Given the description of an element on the screen output the (x, y) to click on. 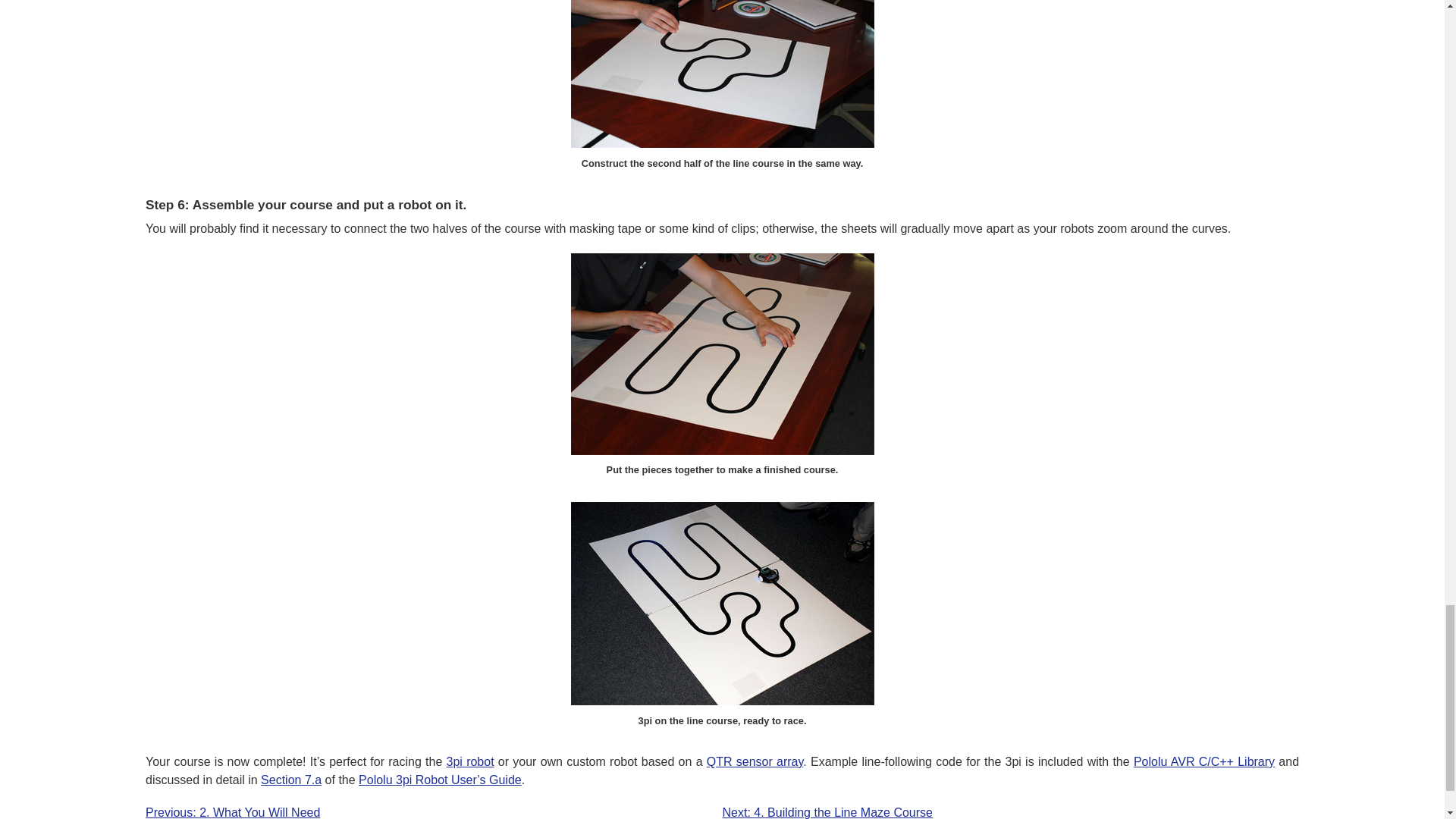
Section 7.a (290, 779)
3pi robot (470, 761)
QTR sensor array (754, 761)
